Given the description of an element on the screen output the (x, y) to click on. 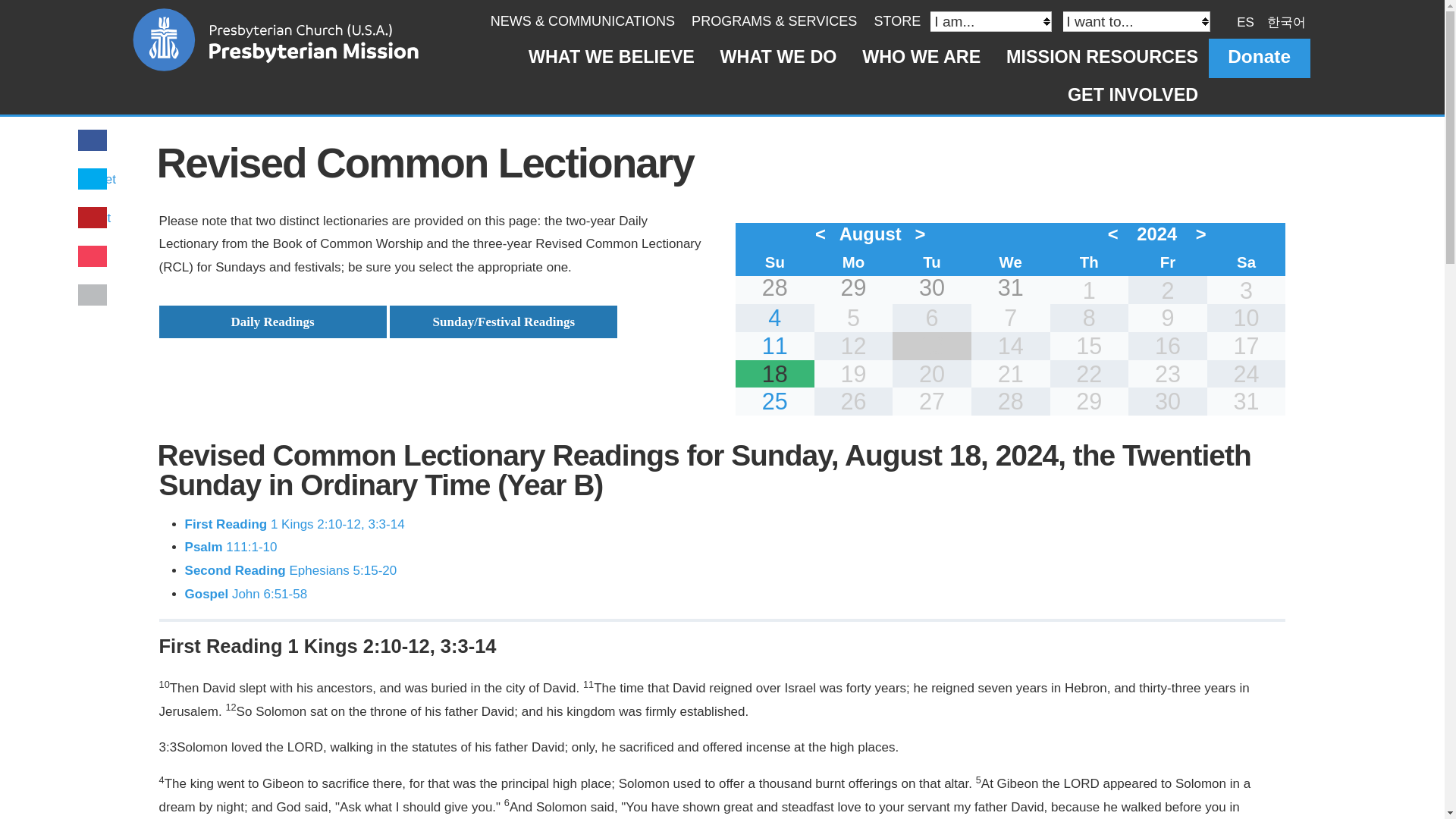
Pin It (96, 217)
STORE (896, 20)
Last Year (1115, 233)
Share on Twitter (98, 178)
Share on Facebook (92, 140)
ES (1245, 22)
